Given the description of an element on the screen output the (x, y) to click on. 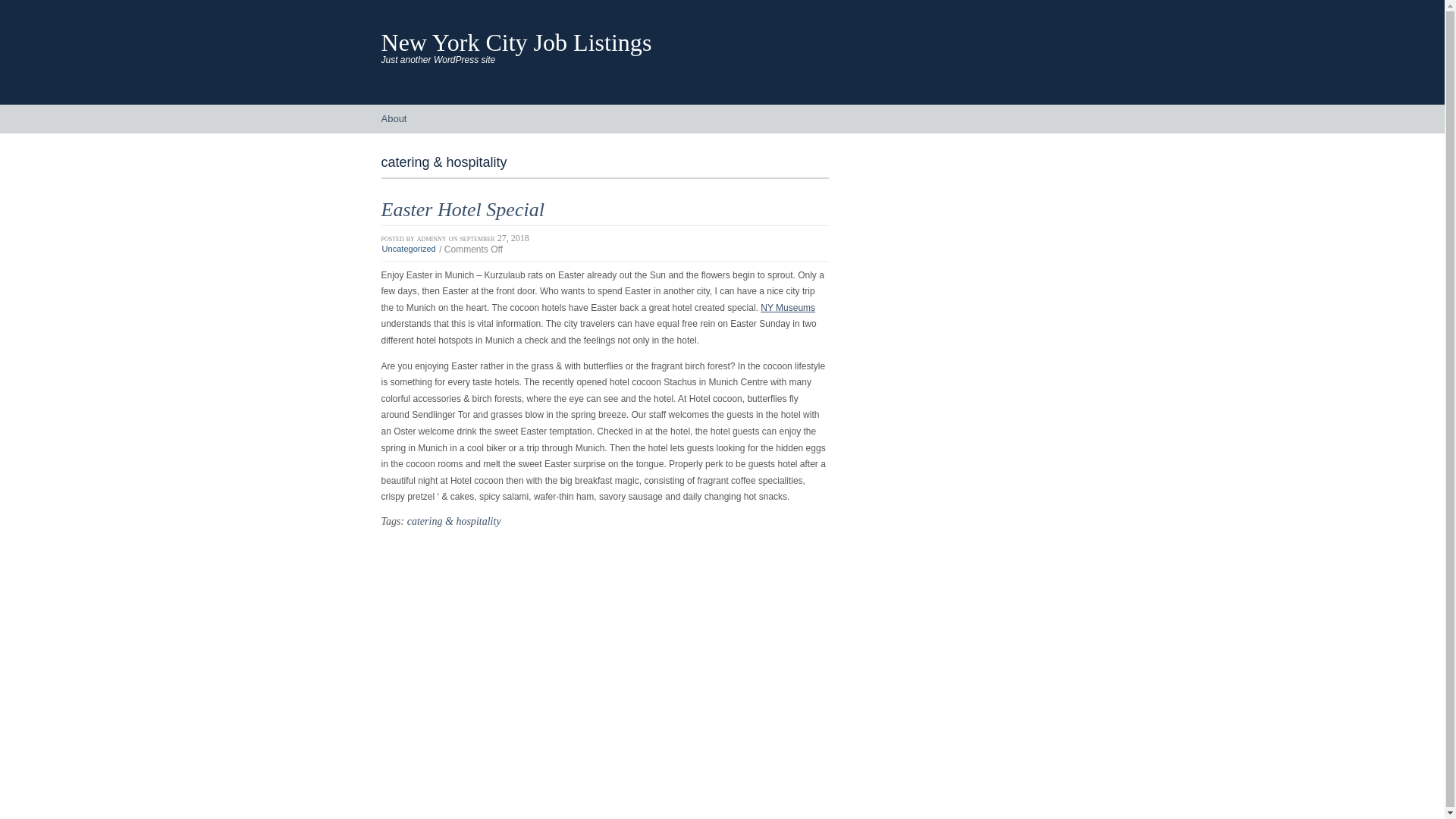
New York City Job Listings (515, 42)
About (393, 118)
NY Museums (787, 307)
Uncategorized (407, 248)
Easter Hotel Special (461, 209)
